Given the description of an element on the screen output the (x, y) to click on. 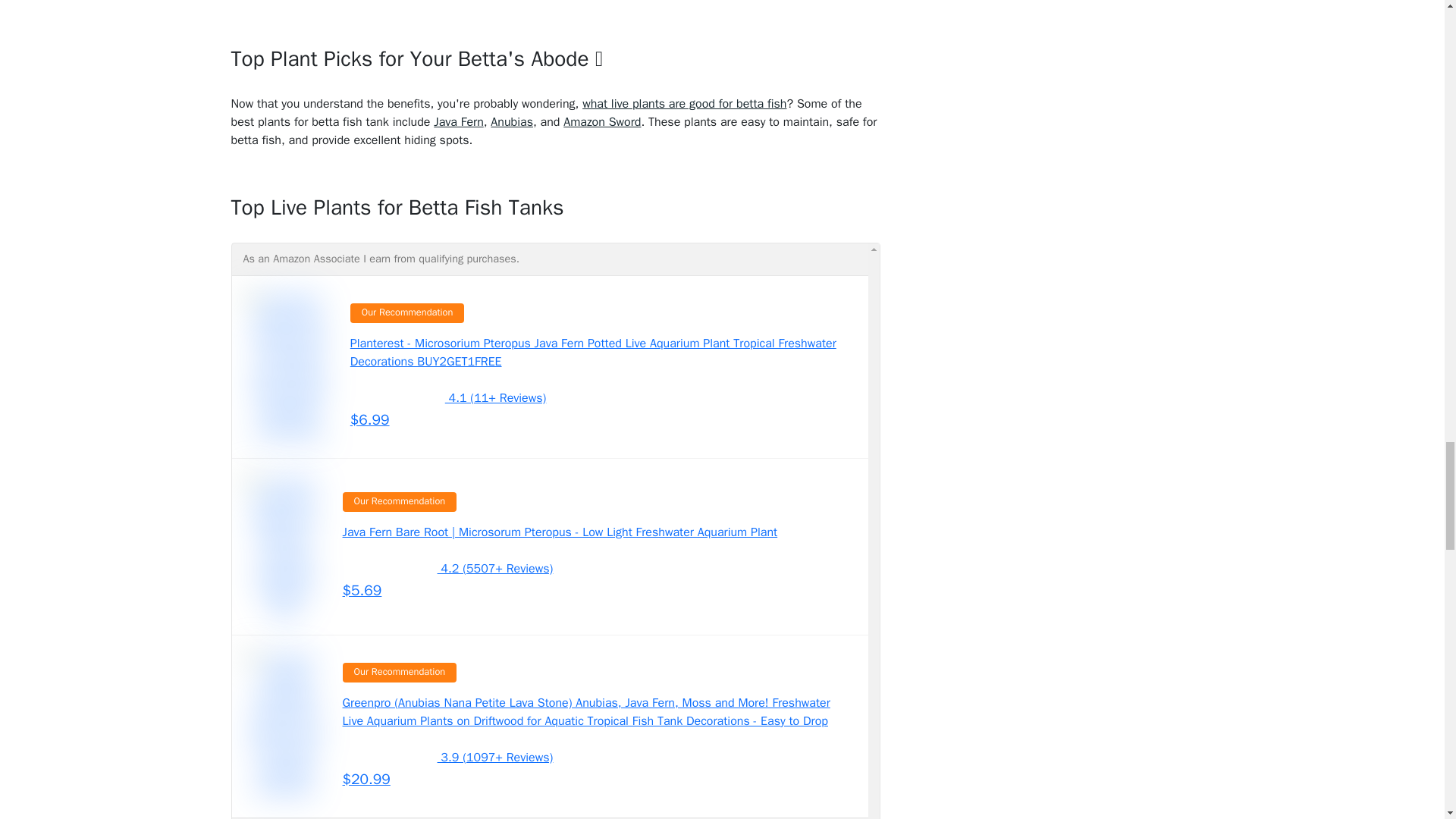
What Should I Include in My Betta Fish Tank (458, 121)
What Should I Include in My Betta Fish Tank (601, 121)
What Should I Include in My Betta Fish Tank (511, 121)
